Given the description of an element on the screen output the (x, y) to click on. 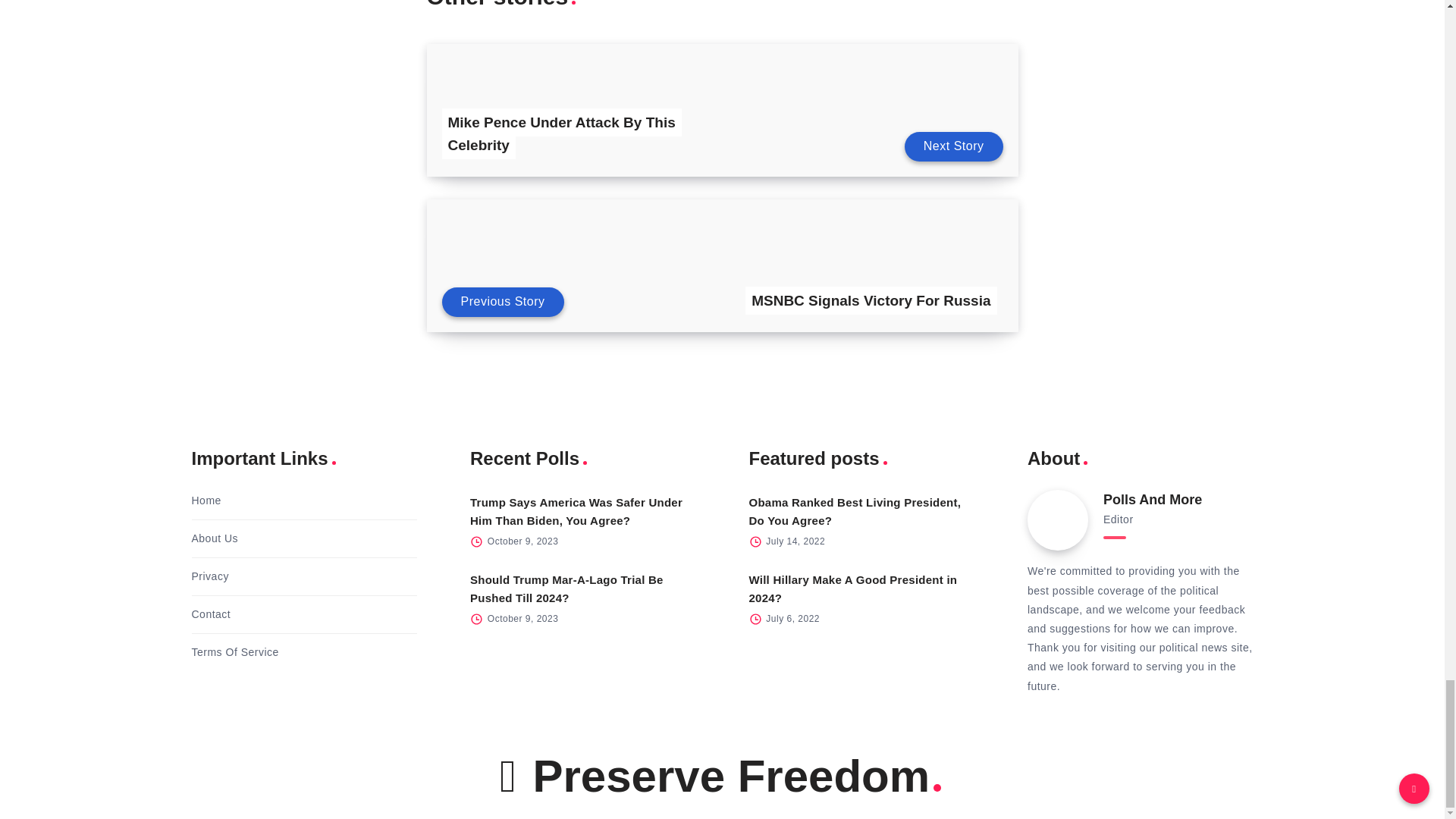
Privacy (209, 576)
Will Hillary Make A Good President in 2024? (853, 588)
Home (205, 500)
Obama Ranked Best Living President, Do You Agree? (854, 511)
Contact (210, 614)
About Us (214, 538)
Terms Of Service (234, 651)
Should Trump Mar-A-Lago Trial Be Pushed Till 2024? (566, 588)
